Given the description of an element on the screen output the (x, y) to click on. 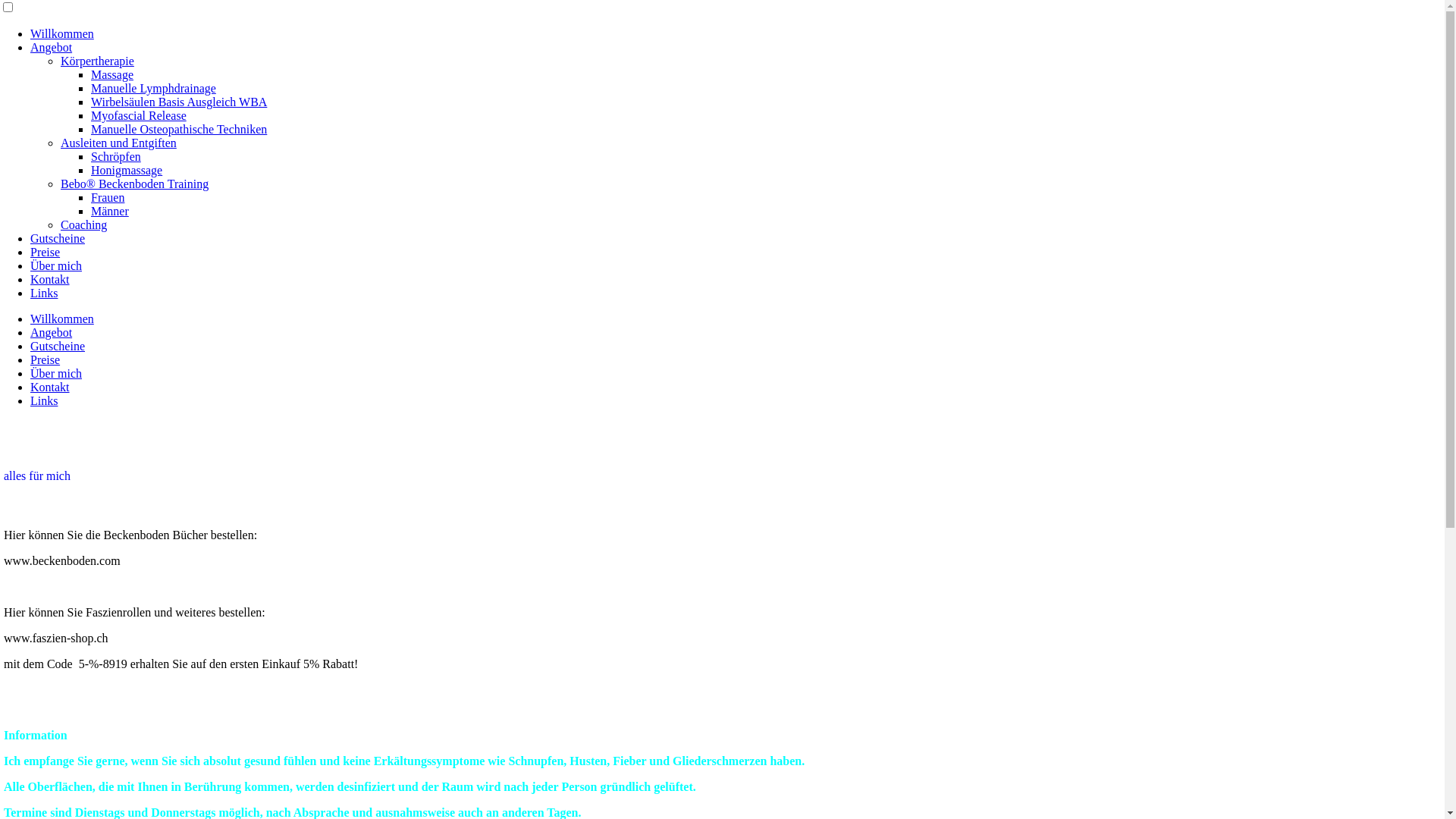
Gutscheine Element type: text (57, 345)
Angebot Element type: text (51, 46)
Massage Element type: text (112, 74)
Kontakt Element type: text (49, 386)
Coaching Element type: text (83, 224)
Manuelle Osteopathische Techniken Element type: text (178, 128)
Manuelle Lymphdrainage Element type: text (153, 87)
Angebot Element type: text (51, 332)
Willkommen Element type: text (62, 33)
Links Element type: text (43, 292)
Preise Element type: text (44, 359)
Links Element type: text (43, 400)
Honigmassage Element type: text (126, 169)
Gutscheine Element type: text (57, 238)
Myofascial Release Element type: text (138, 115)
Willkommen Element type: text (62, 318)
Kontakt Element type: text (49, 279)
Preise Element type: text (44, 251)
Ausleiten und Entgiften Element type: text (118, 142)
Frauen Element type: text (107, 197)
